Given the description of an element on the screen output the (x, y) to click on. 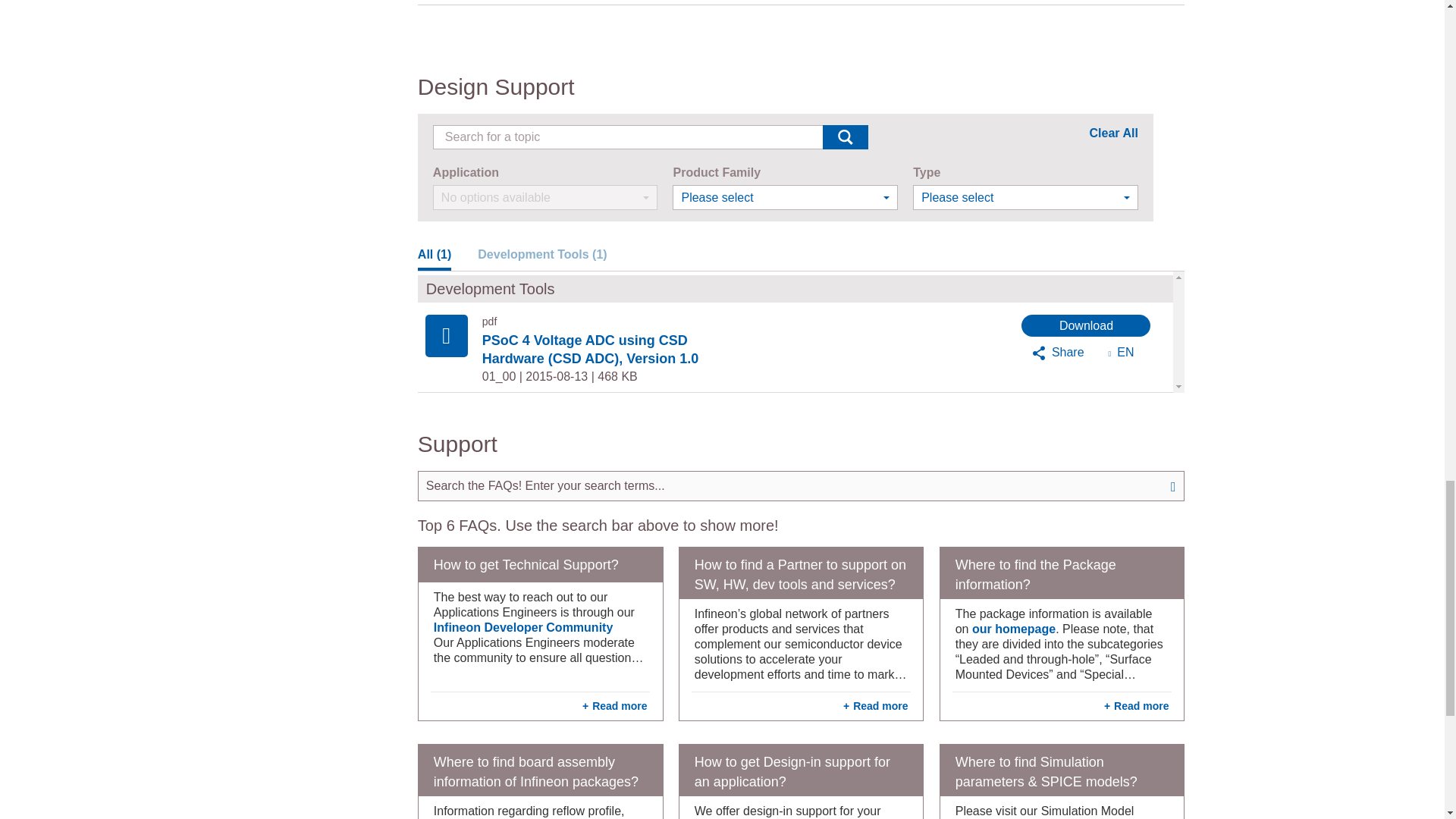
No options available (545, 197)
Where to find the Package information? (1062, 572)
Please select (785, 197)
Please select (1025, 197)
How to get Technical Support? (540, 564)
